Given the description of an element on the screen output the (x, y) to click on. 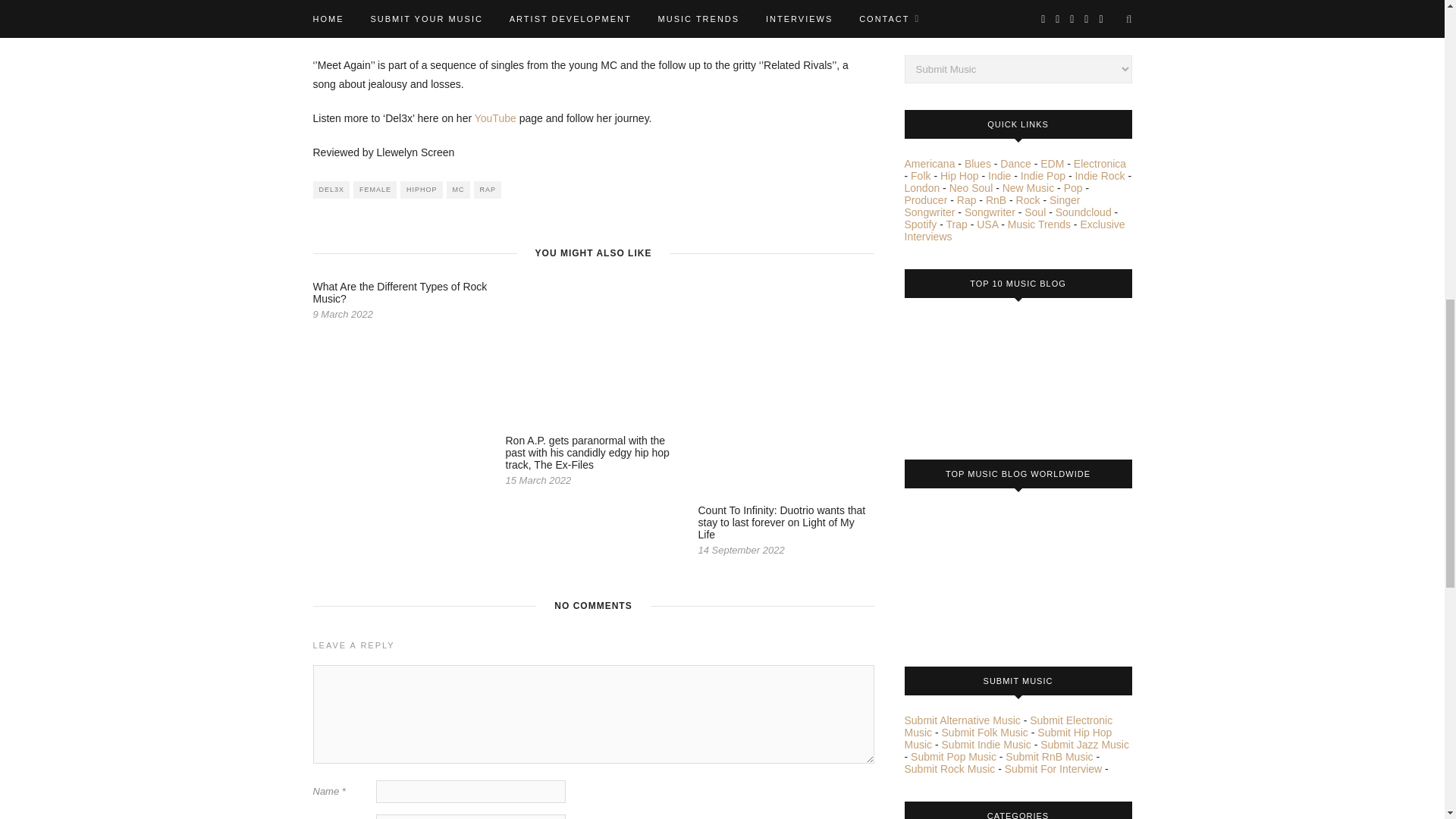
Americana (929, 163)
YouTube (495, 118)
Top 10 Music Blog (960, 373)
DEL3X (331, 189)
FEMALE (374, 189)
RAP (488, 189)
Blues (977, 163)
What Are the Different Types of Rock Music? (399, 292)
MC (458, 189)
